Given the description of an element on the screen output the (x, y) to click on. 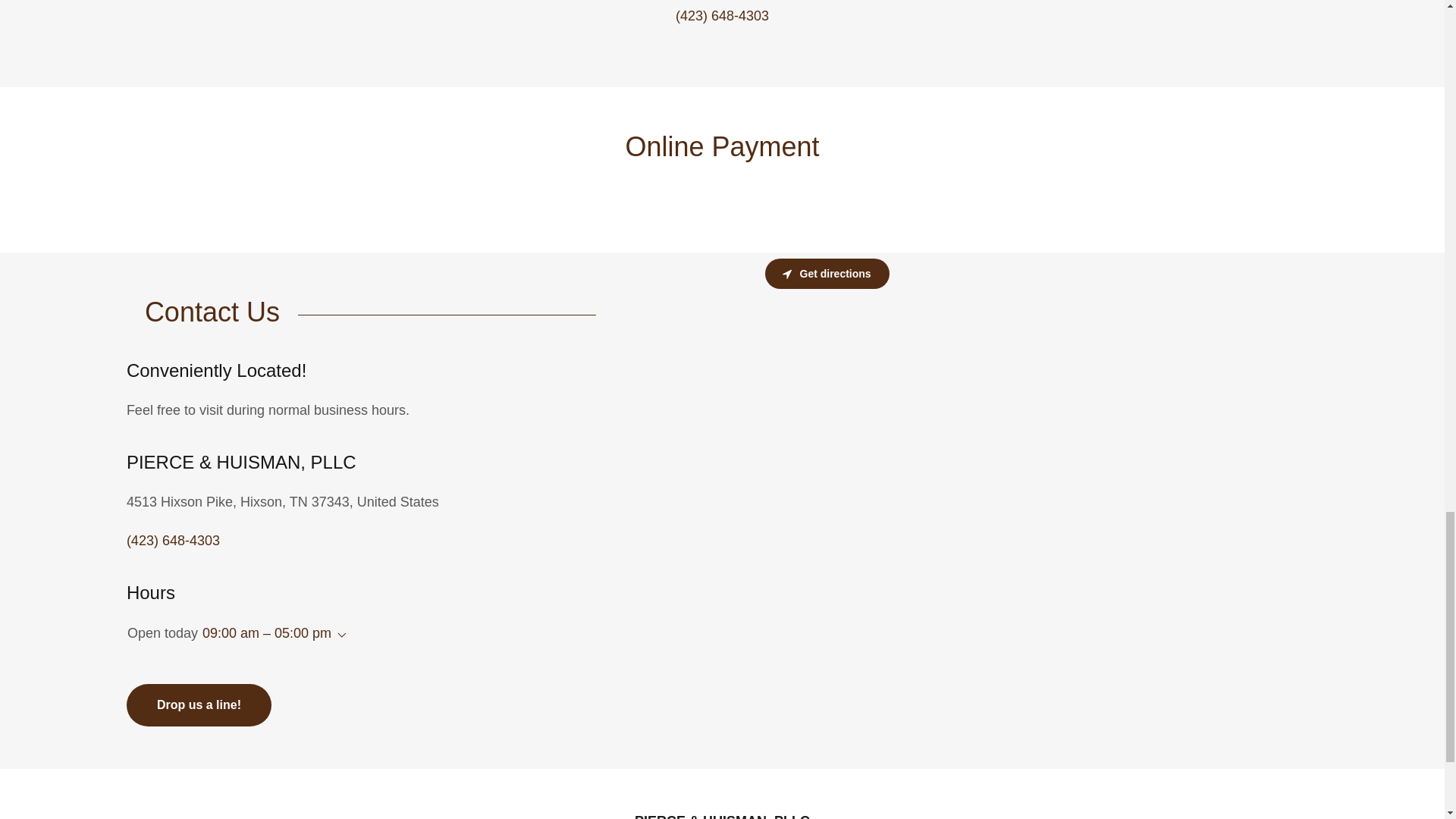
Drop us a line! (198, 704)
Get directions (826, 273)
